Given the description of an element on the screen output the (x, y) to click on. 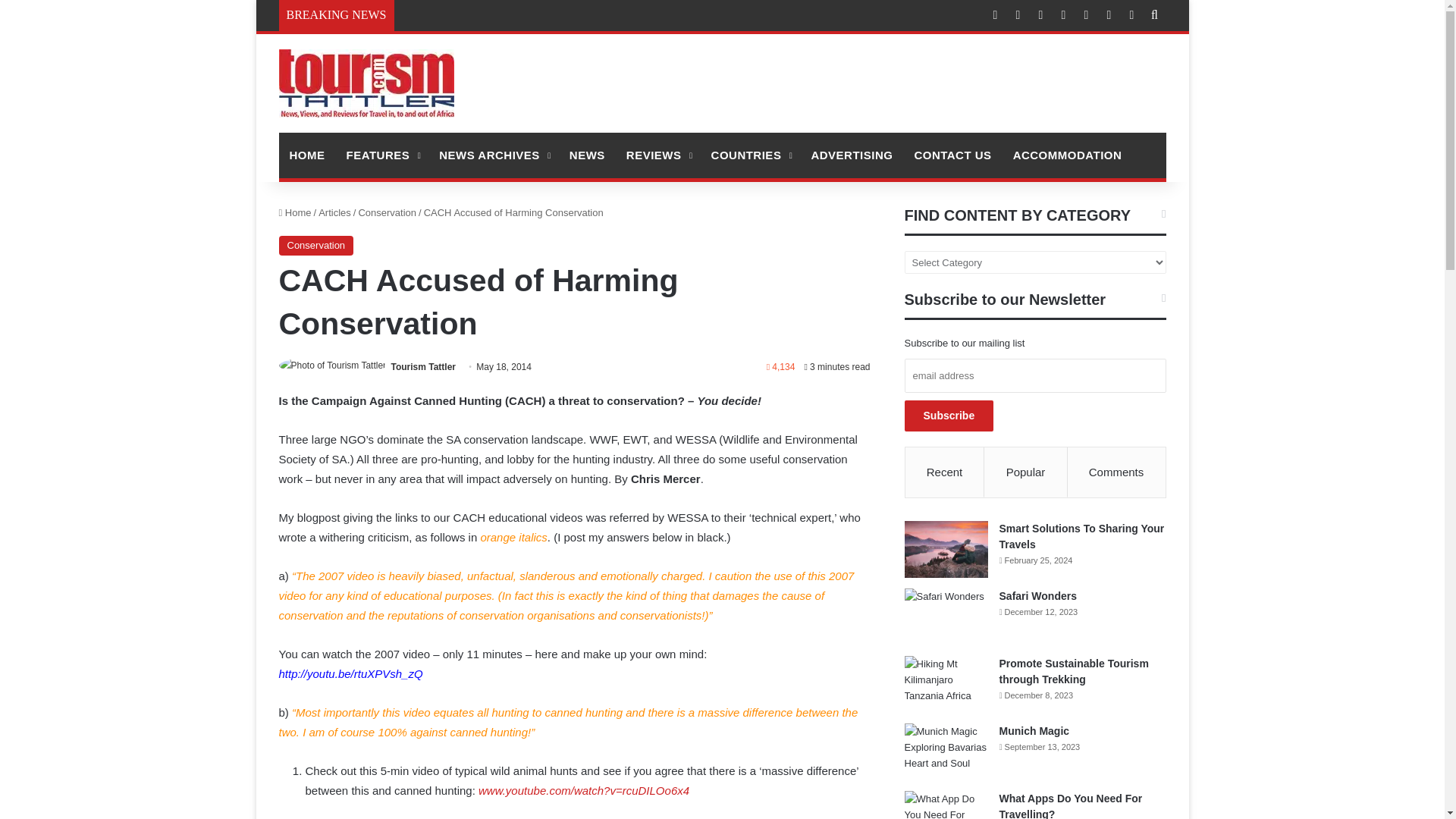
FEATURES (381, 155)
Tourism Tattler (422, 366)
HOME (307, 155)
Subscribe (949, 415)
Tourism Tattler (366, 83)
